Given the description of an element on the screen output the (x, y) to click on. 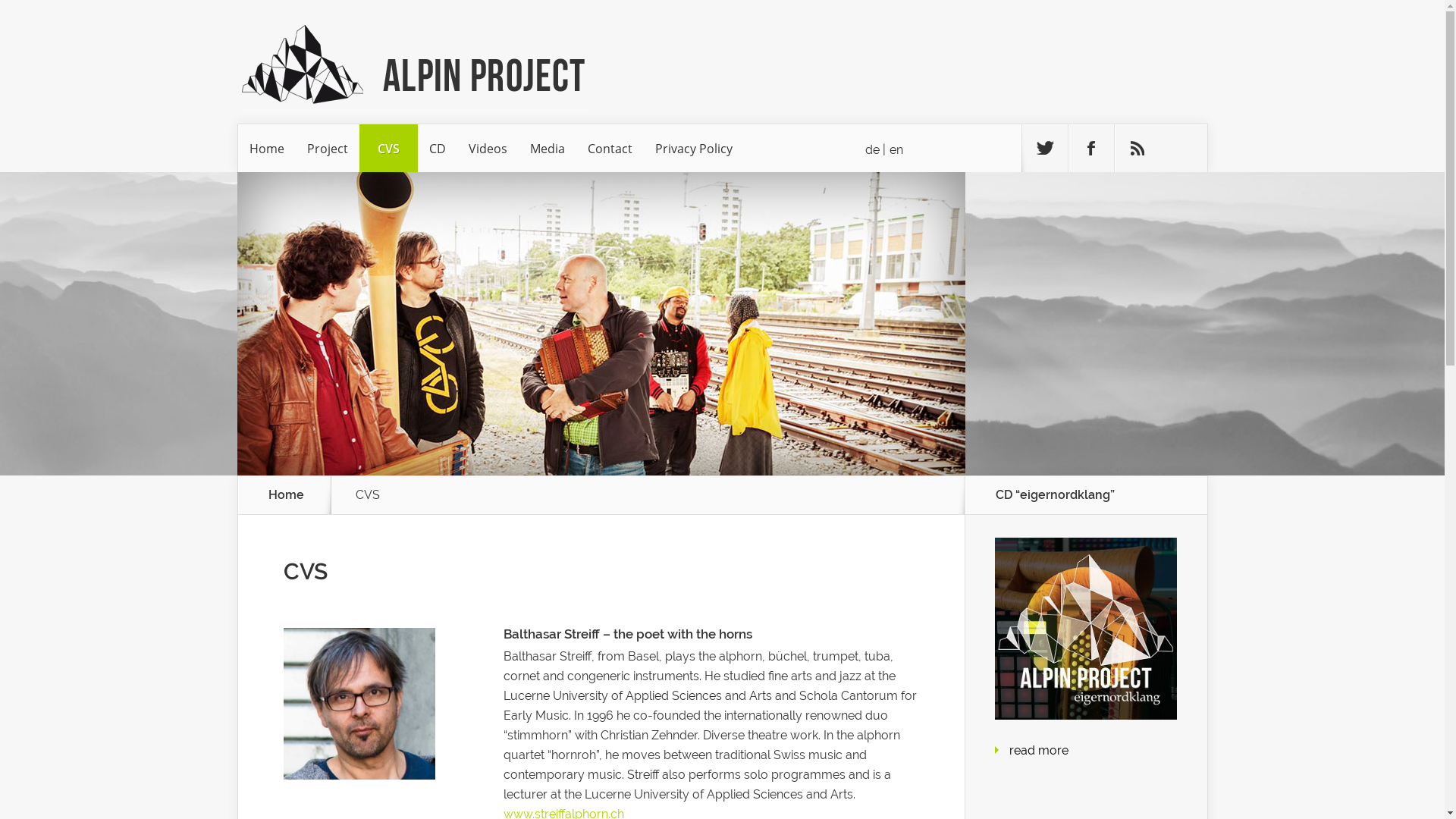
de | Element type: text (874, 149)
Home Element type: text (286, 495)
Privacy Policy Element type: text (693, 148)
Home Element type: text (266, 148)
Media Element type: text (547, 148)
Subscribe To Rss Feed Element type: text (1137, 148)
en Element type: text (895, 149)
Follow us on Twitter Element type: text (1044, 148)
read more Element type: text (1037, 750)
Project Element type: text (327, 148)
Contact Element type: text (609, 148)
CVS Element type: text (388, 148)
CD Element type: text (436, 148)
Follow us on Facebook Element type: text (1090, 148)
Videos Element type: text (486, 148)
